Given the description of an element on the screen output the (x, y) to click on. 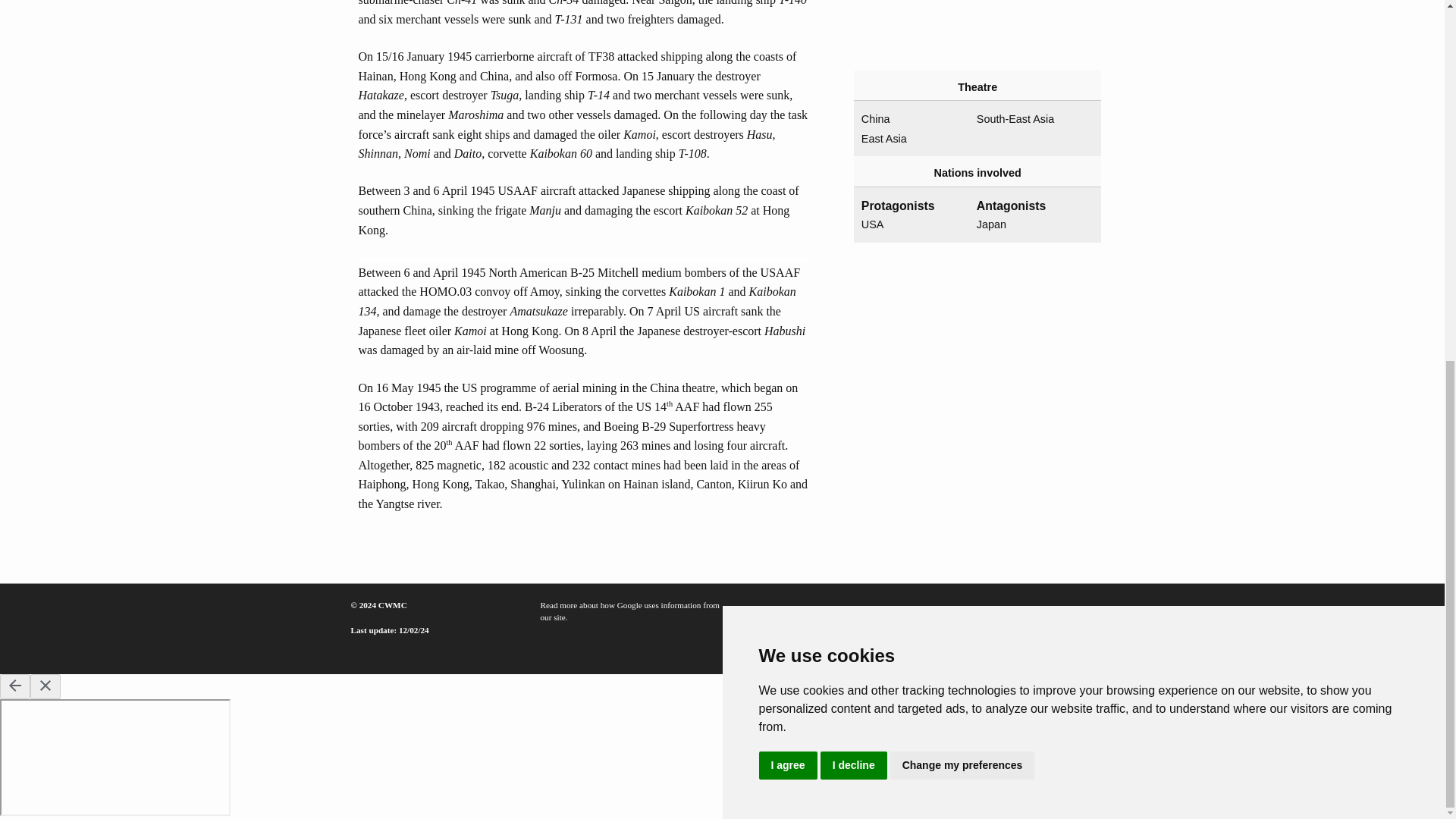
I decline (853, 124)
South-East Asia (1028, 119)
China (913, 119)
Japan (1028, 225)
Change my preferences (962, 124)
East Asia (913, 139)
USA (913, 225)
China (913, 119)
USA (913, 225)
I agree (787, 124)
